Given the description of an element on the screen output the (x, y) to click on. 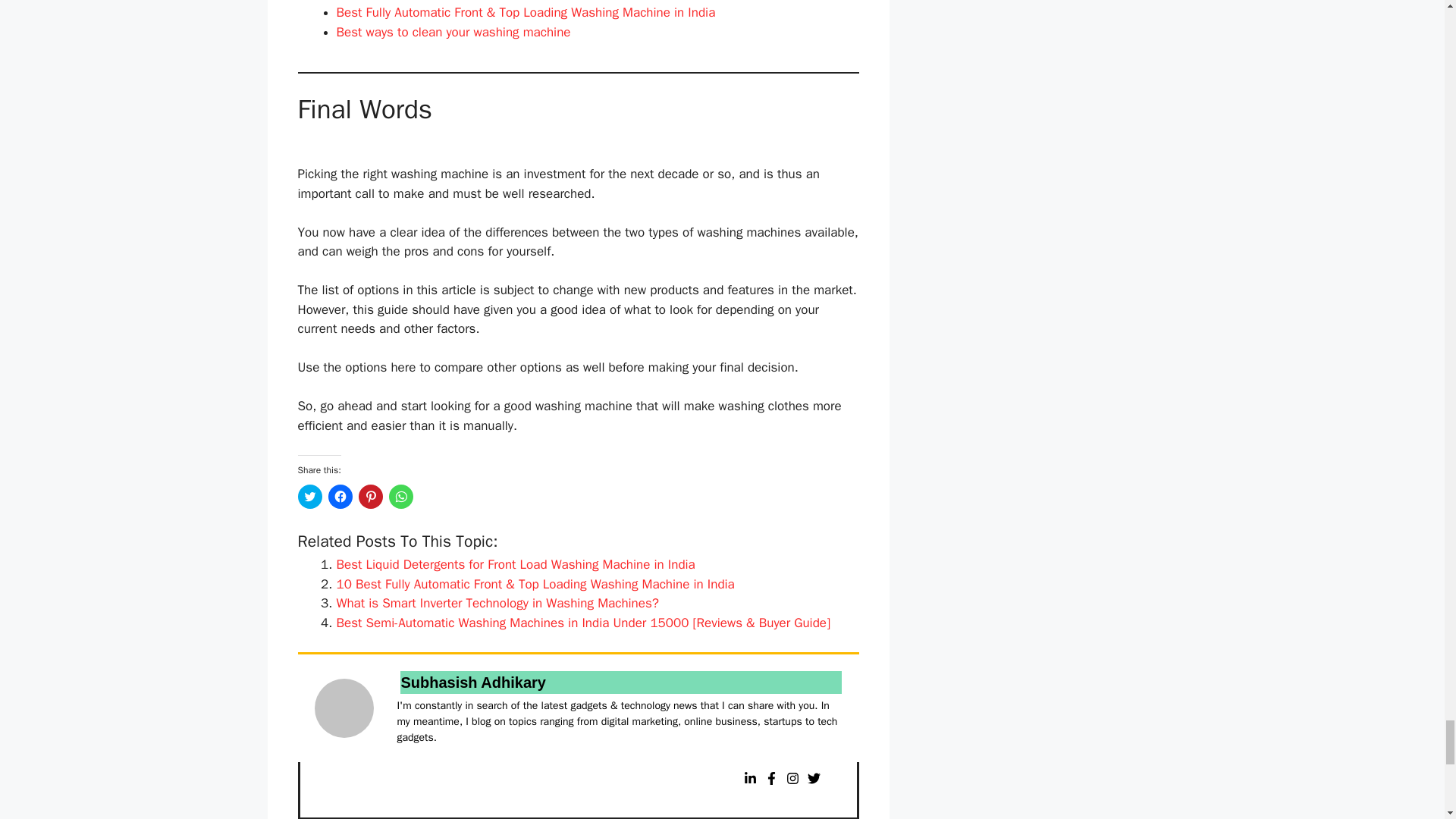
Click to share on Facebook (339, 496)
Click to share on Pinterest (369, 496)
Click to share on Twitter (309, 496)
Click to share on WhatsApp (400, 496)
